Given the description of an element on the screen output the (x, y) to click on. 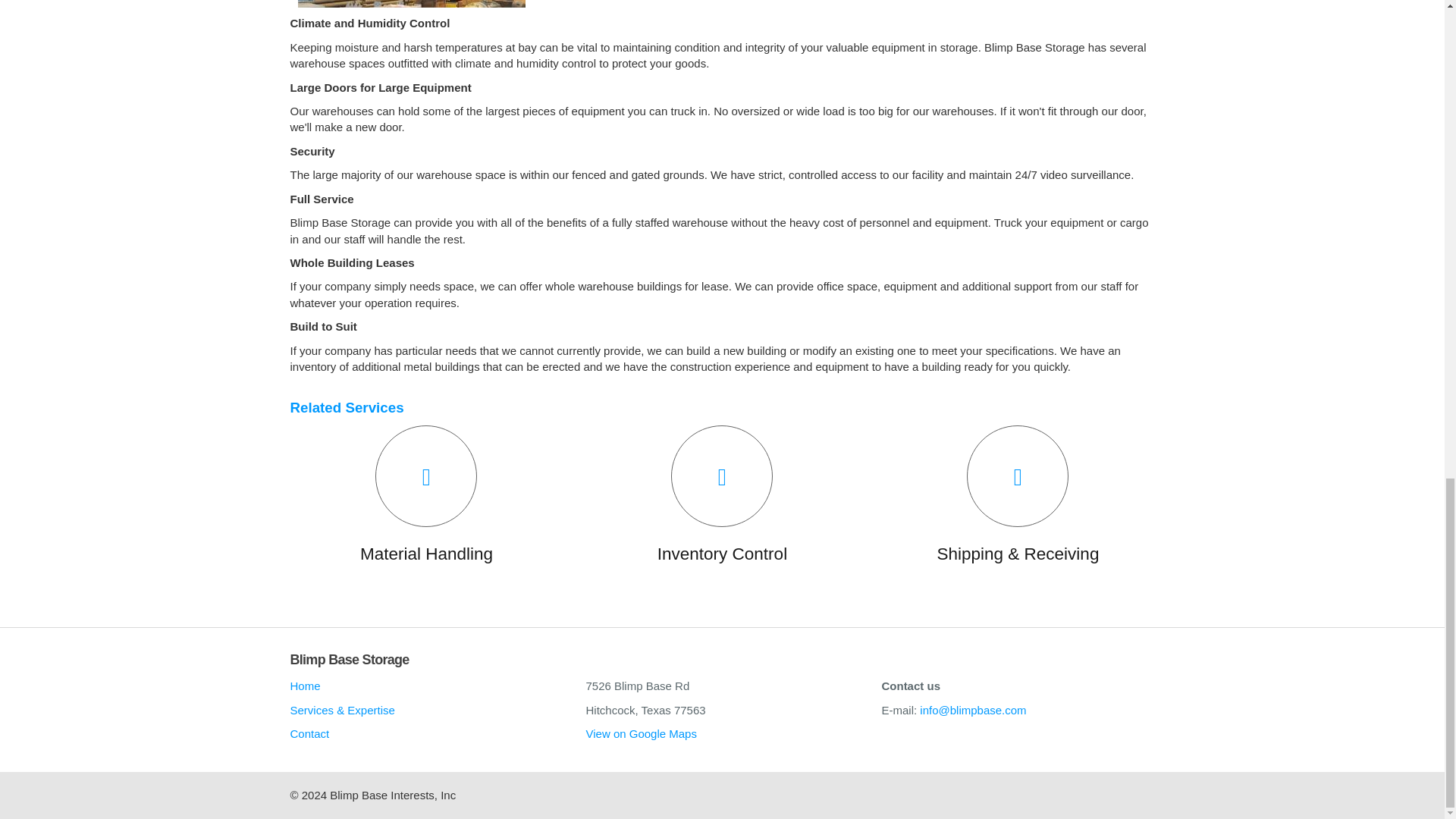
Blimp Base Storage (349, 659)
Material Handling (425, 495)
Inventory Control (722, 495)
Home (425, 689)
Contact (425, 737)
View on Google Maps (640, 733)
